Given the description of an element on the screen output the (x, y) to click on. 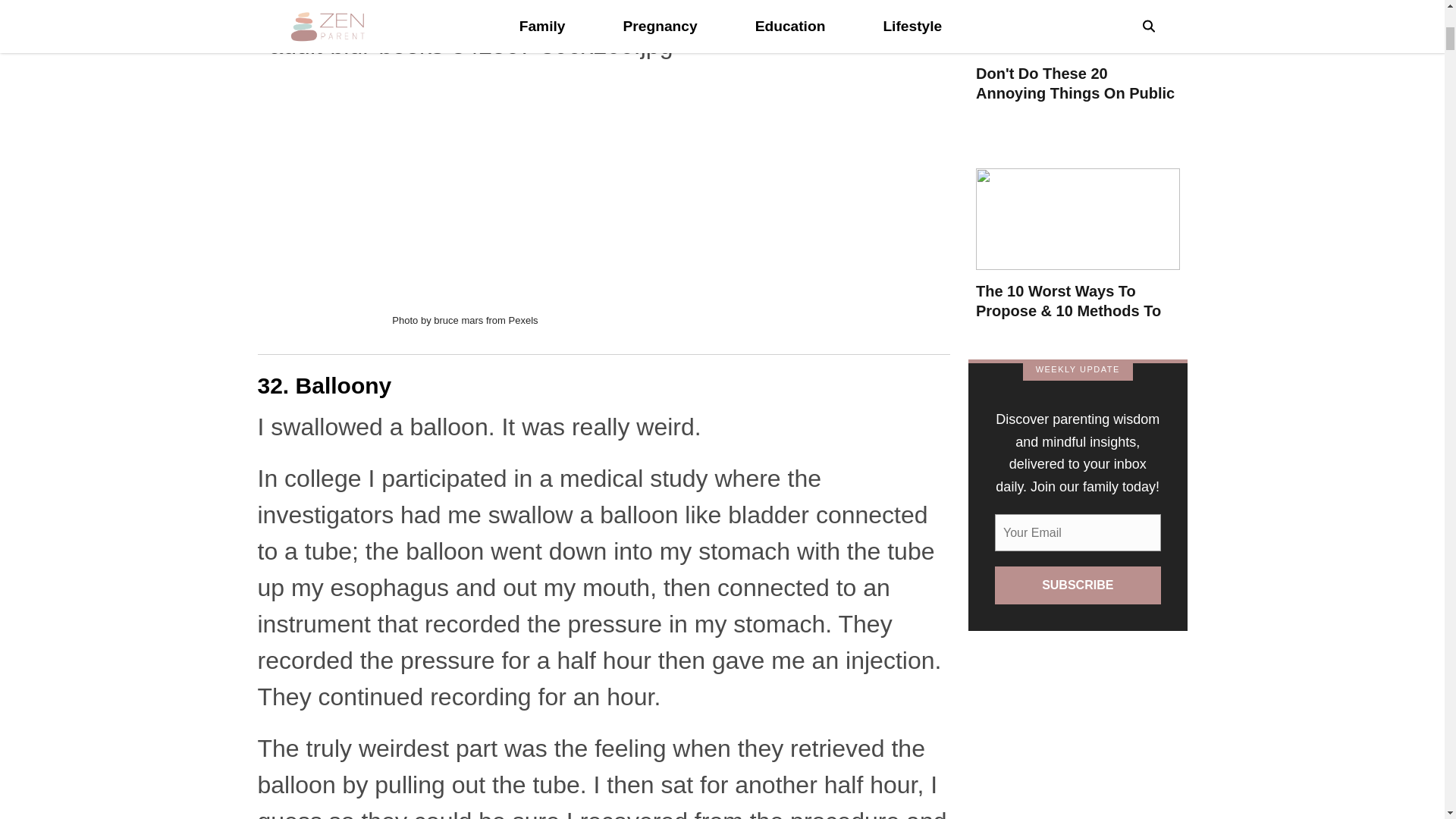
Photo by bruce mars from Pexels (464, 319)
